Given the description of an element on the screen output the (x, y) to click on. 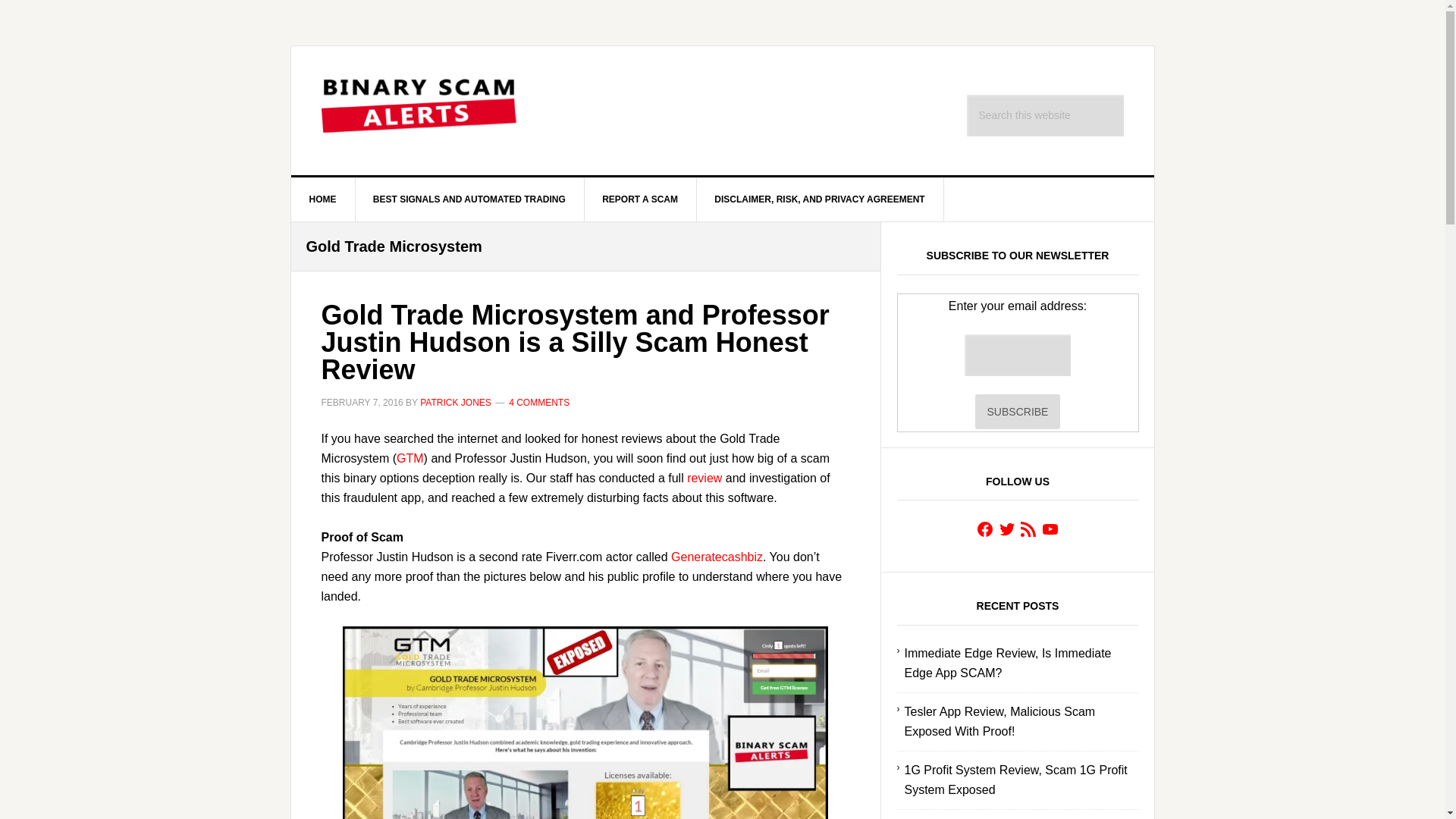
REPORT A SCAM (640, 199)
Generatecashbiz (716, 556)
HOME (323, 199)
BEST SIGNALS AND AUTOMATED TRADING (470, 199)
4 COMMENTS (538, 402)
Gold Trade Microsystem Scam (585, 722)
GTM (409, 458)
DISCLAIMER, RISK, AND PRIVACY AGREEMENT (819, 199)
BINARY SCAM ALERTS (419, 110)
Subscribe (1018, 411)
PATRICK JONES (456, 402)
review (704, 477)
